Given the description of an element on the screen output the (x, y) to click on. 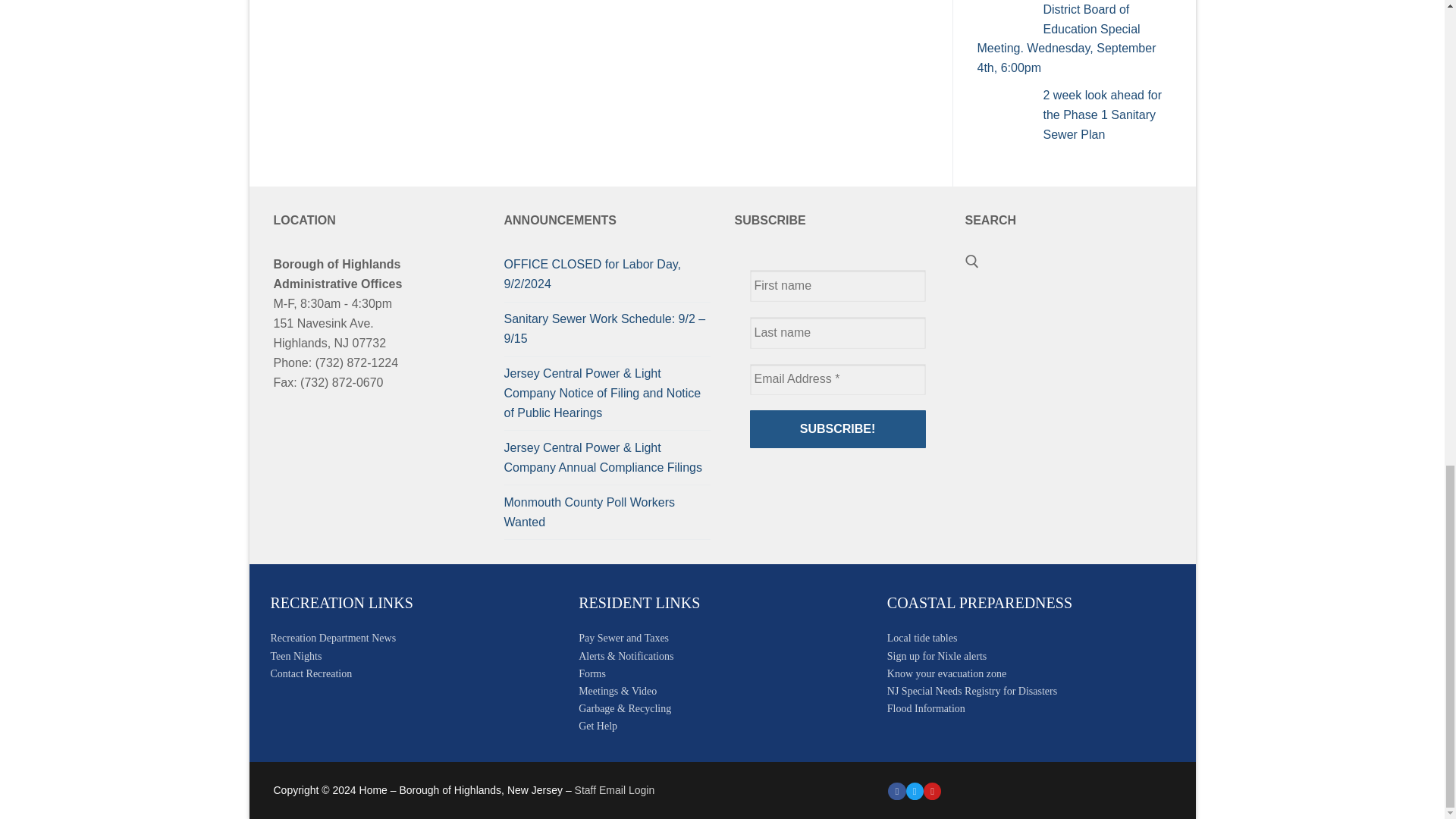
Email Address (836, 379)
Twitter (915, 791)
Youtube (932, 791)
Facebook (896, 791)
Subscribe! (836, 428)
Last name (836, 332)
First name (836, 286)
